Given the description of an element on the screen output the (x, y) to click on. 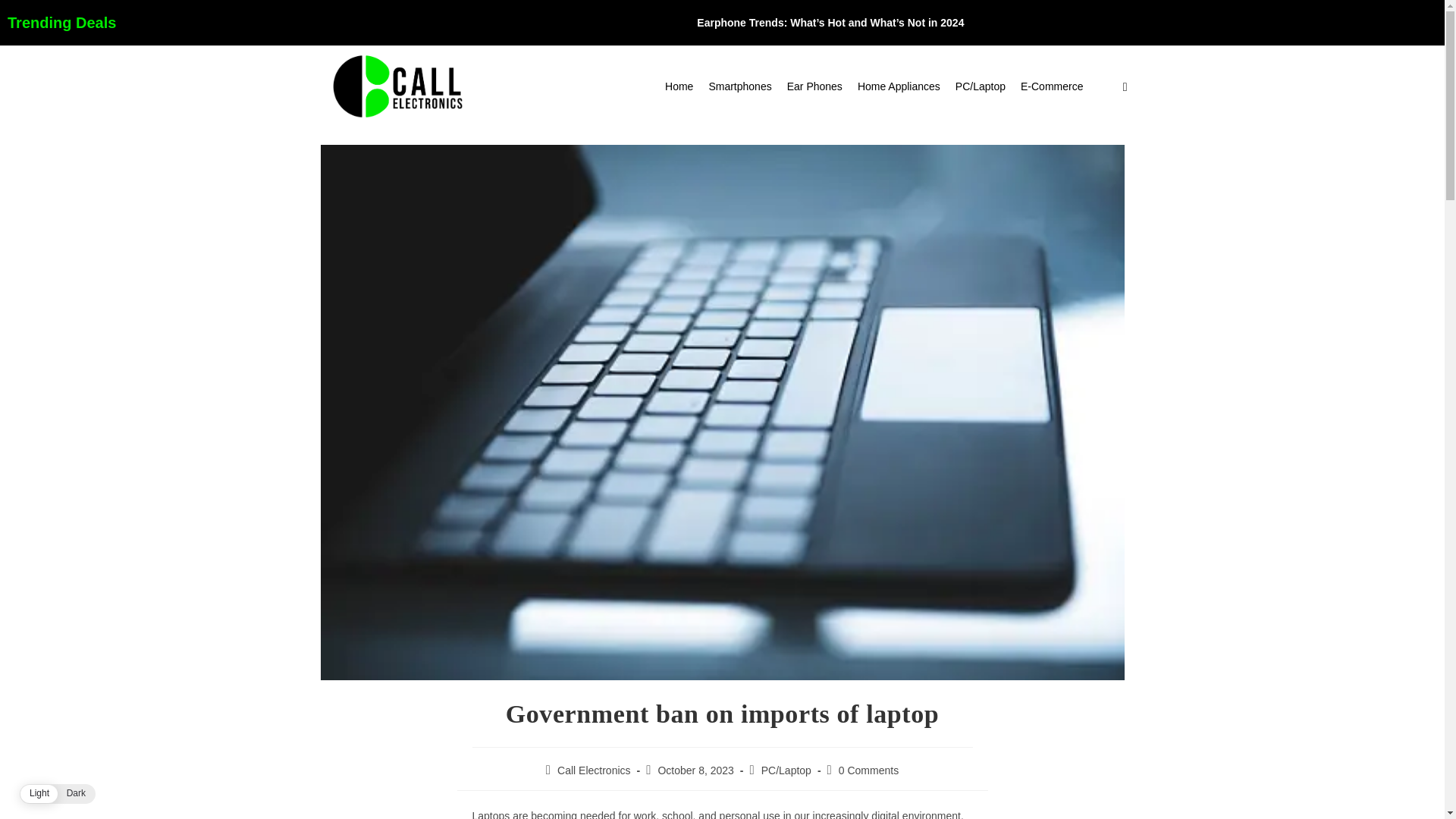
Posts by Call Electronics (593, 770)
Smartphones (739, 86)
Home Appliances (898, 86)
Ear Phones (814, 86)
